Given the description of an element on the screen output the (x, y) to click on. 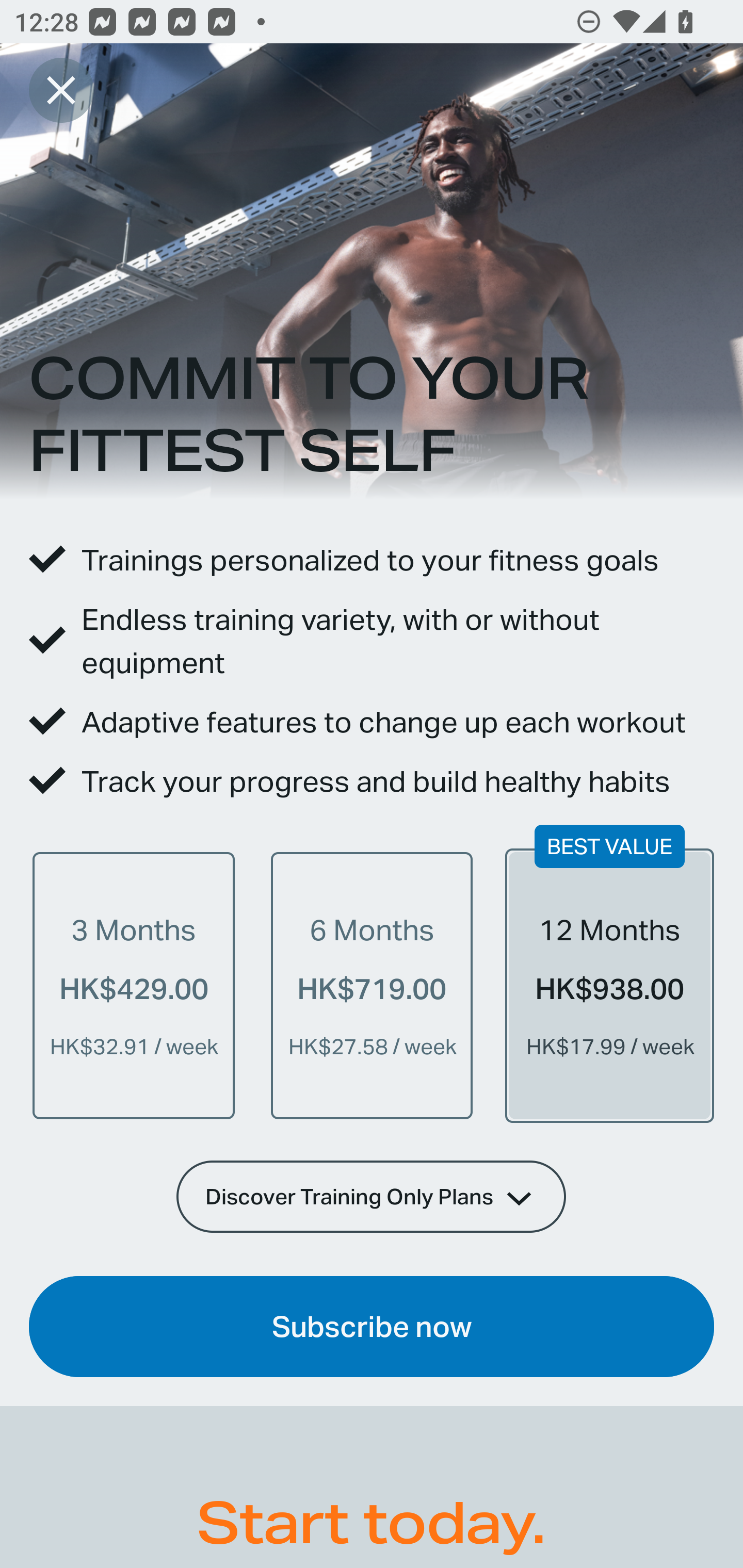
Close (60, 90)
3 Months HK$429.00 HK$32.91 / week (133, 985)
6 Months HK$719.00 HK$27.58 / week (371, 985)
12 Months HK$938.00 HK$17.99 / week (609, 985)
Discover Training Only Plans (371, 1196)
Subscribe now (371, 1326)
